Given the description of an element on the screen output the (x, y) to click on. 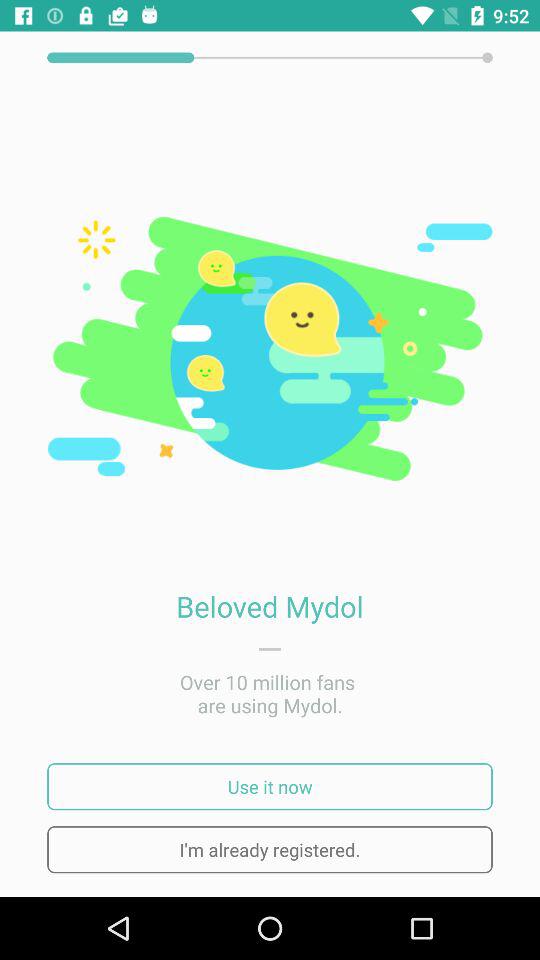
swipe to i m already item (269, 849)
